Given the description of an element on the screen output the (x, y) to click on. 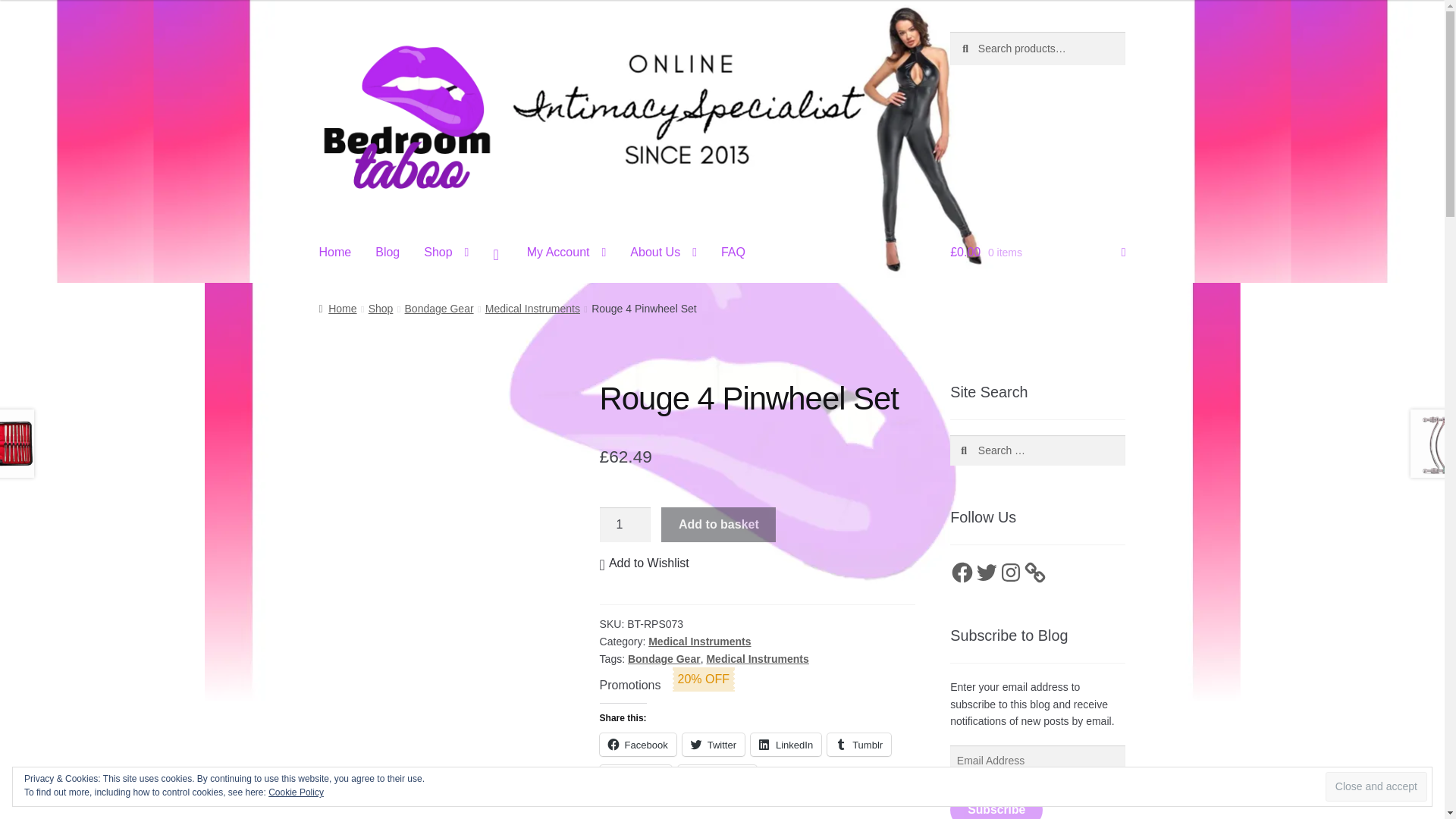
Click to share on Twitter (713, 744)
Shop (446, 252)
View your shopping basket (1037, 252)
1 (624, 524)
Click to share on Facebook (638, 744)
Click to share on Pinterest (635, 775)
Close and accept (1375, 786)
Blog (387, 252)
Click to share on LinkedIn (786, 744)
Home (335, 252)
About Us (663, 252)
